Given the description of an element on the screen output the (x, y) to click on. 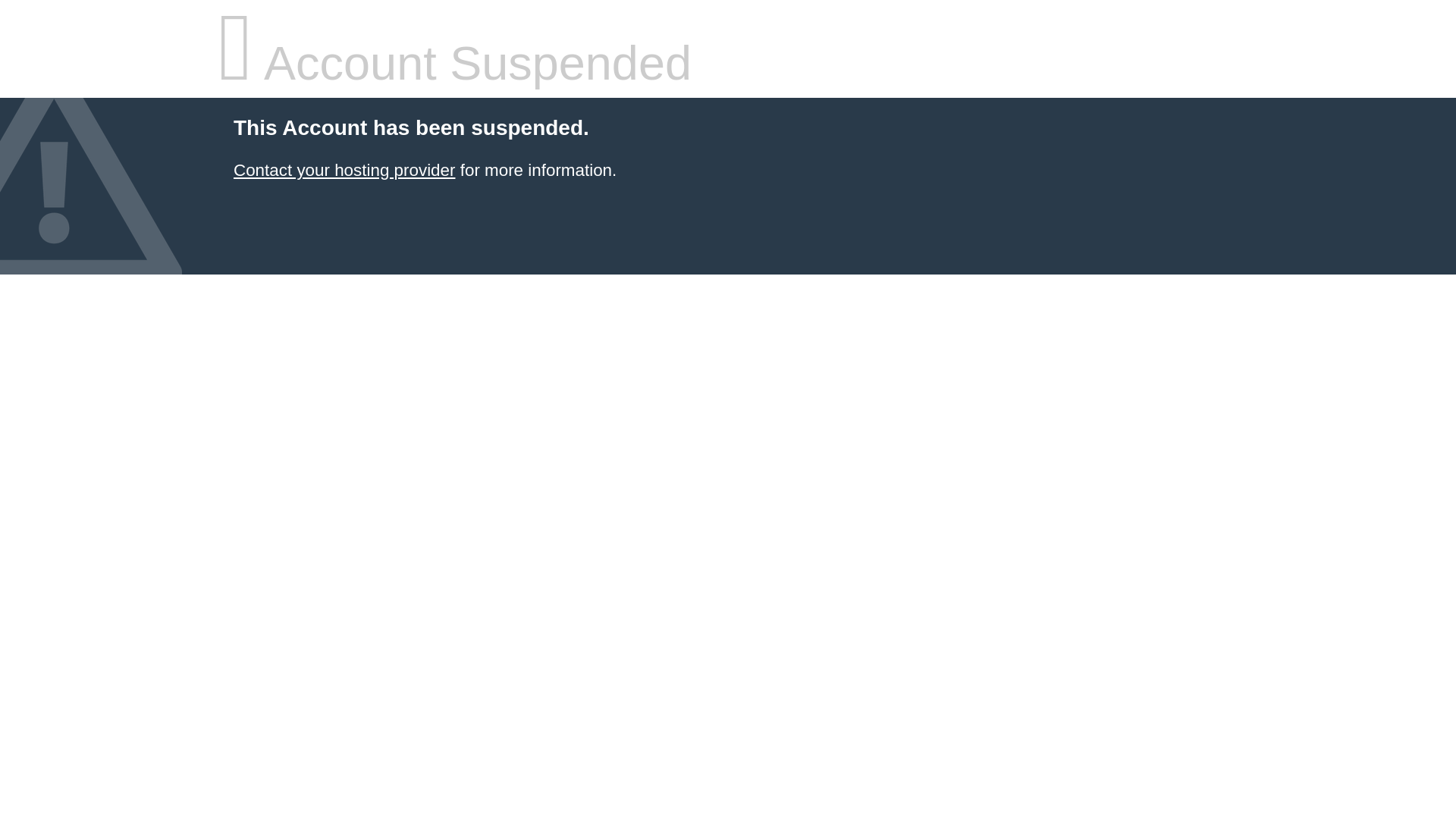
Contact your hosting provider (343, 169)
